Given the description of an element on the screen output the (x, y) to click on. 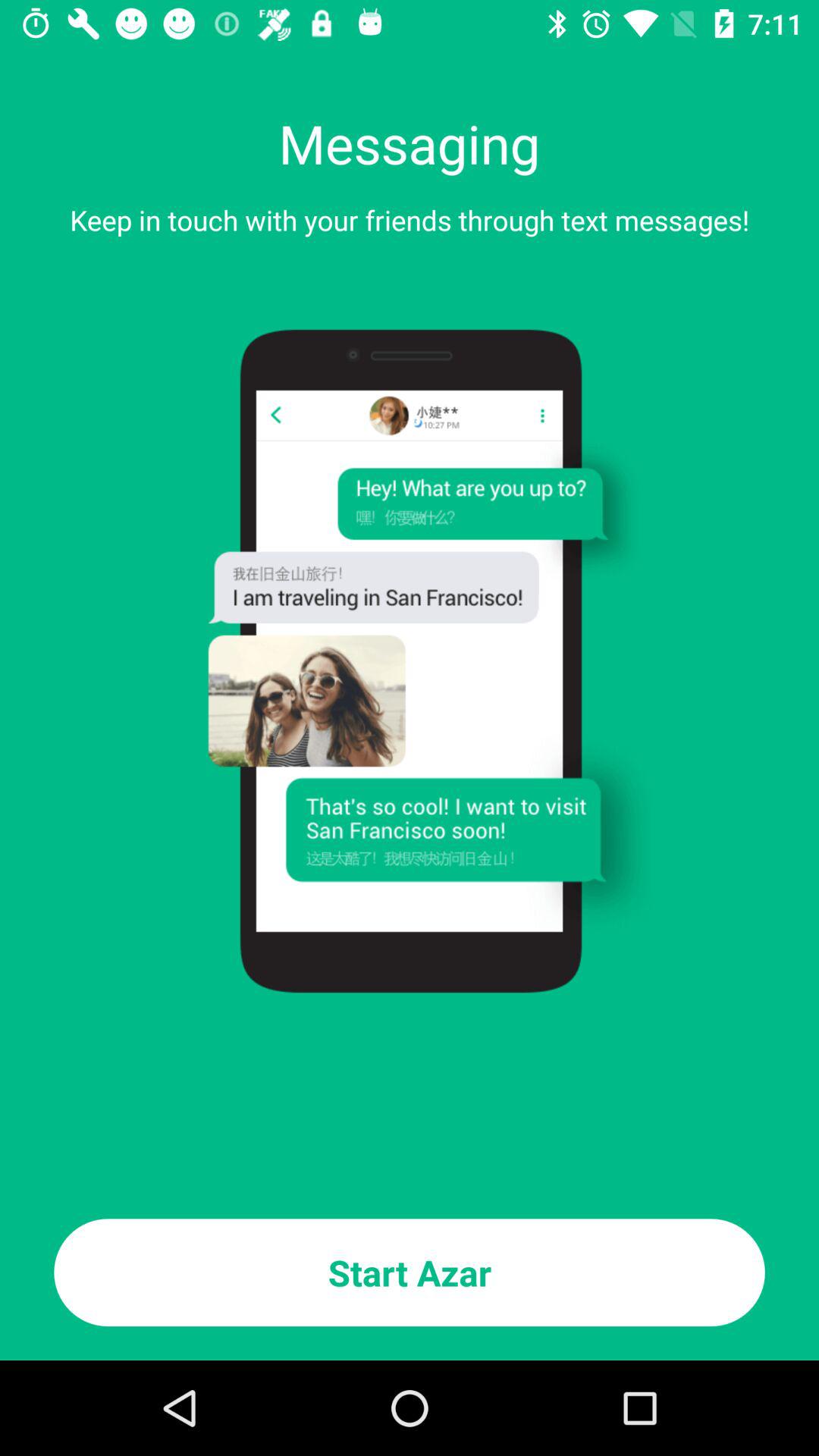
swipe to the start azar (409, 1272)
